Given the description of an element on the screen output the (x, y) to click on. 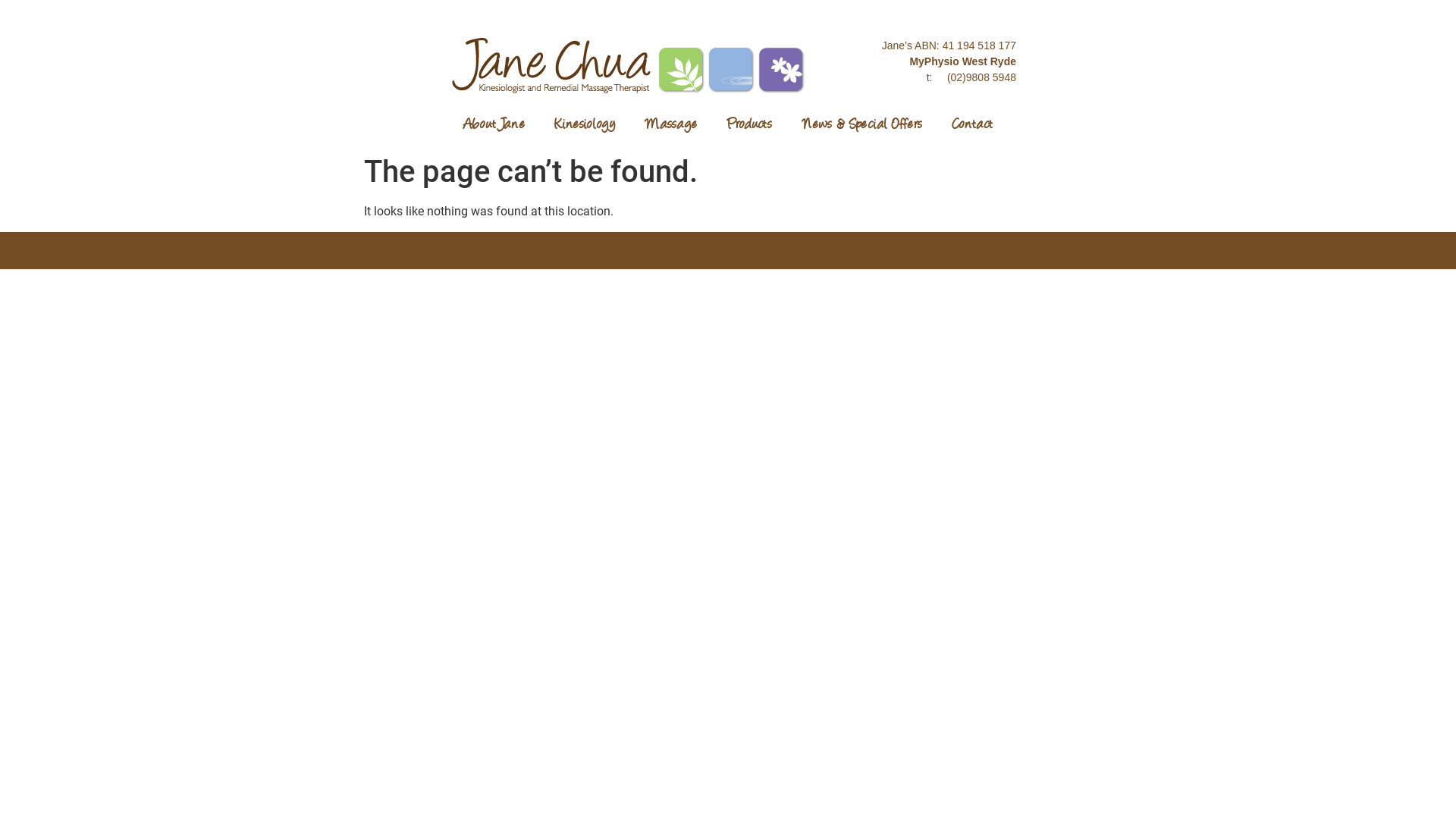
Contact Element type: text (972, 125)
About Jane Element type: text (493, 125)
News & Special Offers Element type: text (862, 125)
Massage Element type: text (671, 125)
Products Element type: text (749, 125)
Kinesiology Element type: text (584, 125)
